Given the description of an element on the screen output the (x, y) to click on. 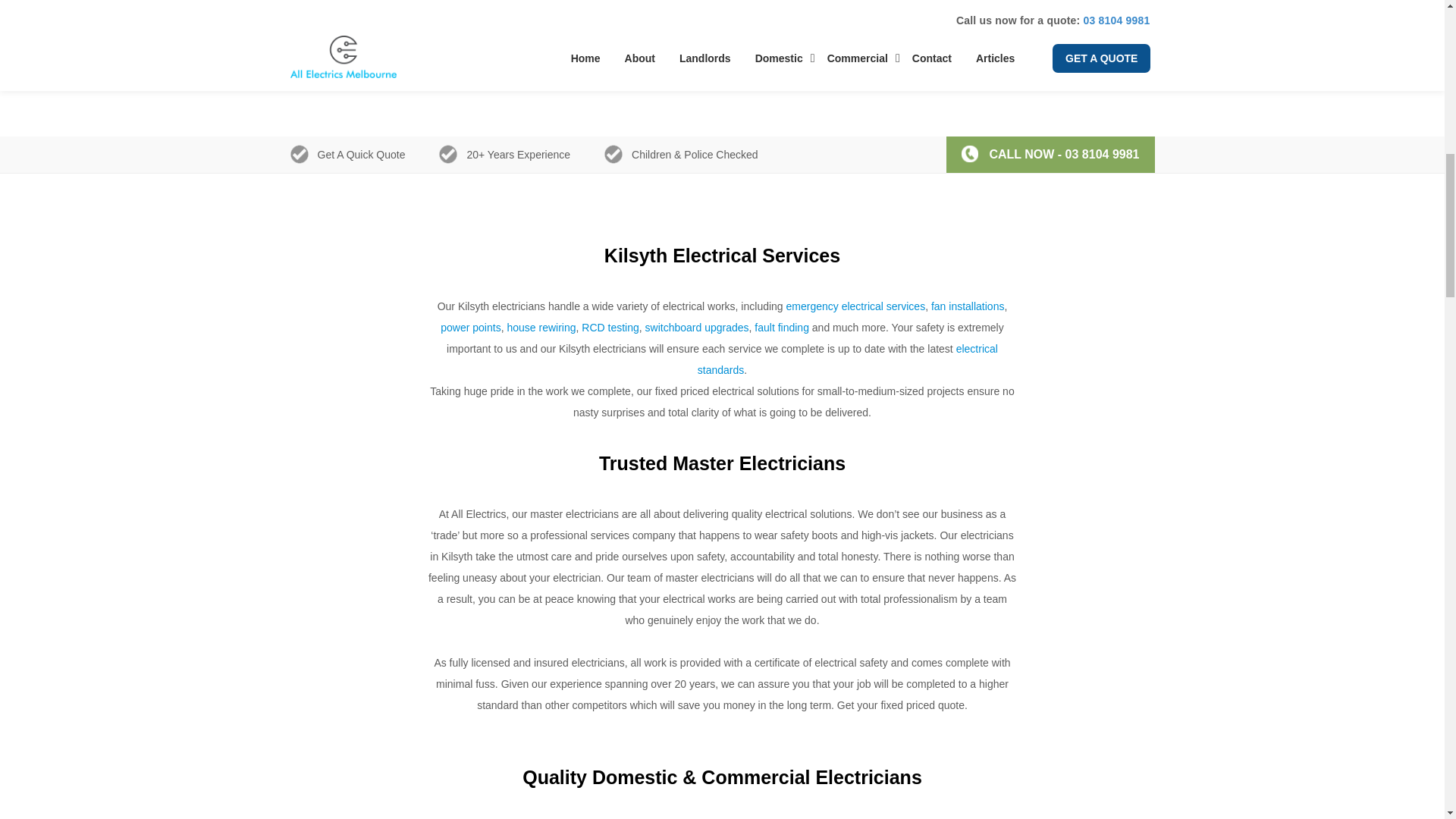
Get A Quick Quote (722, 8)
